Given the description of an element on the screen output the (x, y) to click on. 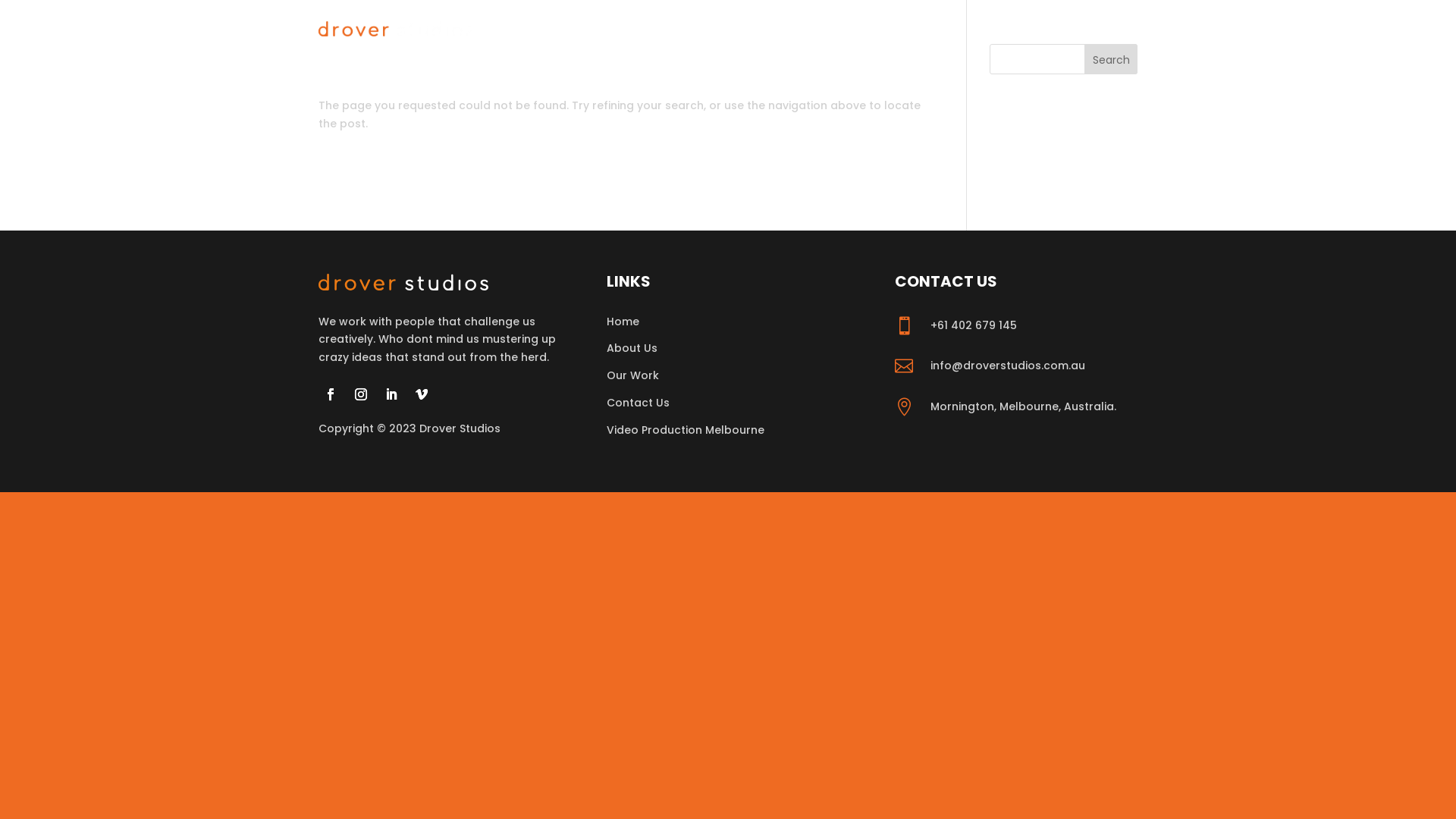
HOME Element type: text (898, 28)
Drover Long OnDark Element type: hover (403, 281)
ABOUT US Element type: text (956, 28)
CONTACT US Element type: text (1103, 28)
Search Element type: text (1110, 58)
Follow on LinkedIn Element type: hover (391, 394)
OUR WORK Element type: text (1026, 28)
Follow on Facebook Element type: hover (330, 394)
Follow on Instagram Element type: hover (360, 394)
Follow on Vimeo Element type: hover (421, 394)
